Given the description of an element on the screen output the (x, y) to click on. 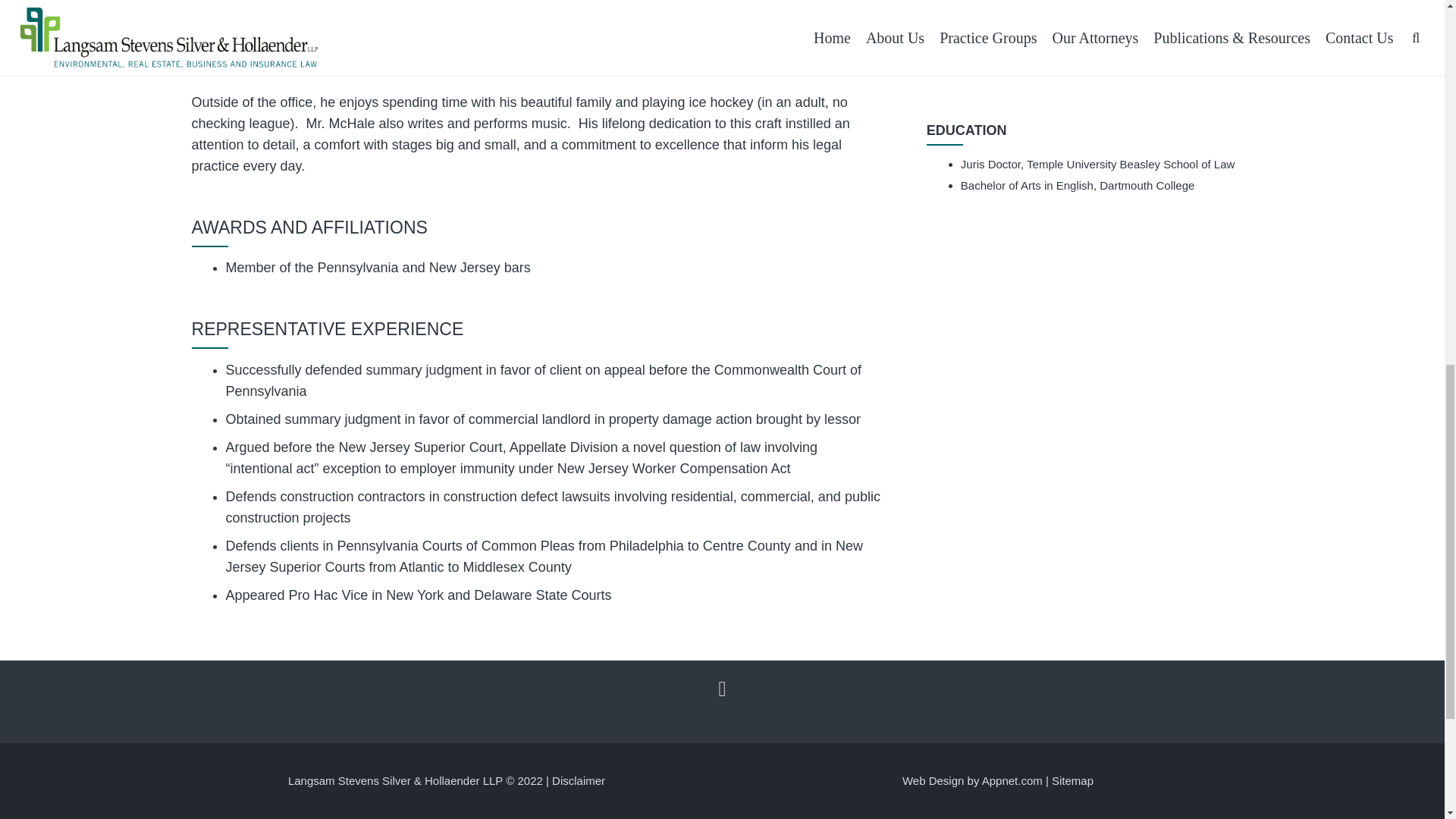
Back to top (1413, 37)
